Given the description of an element on the screen output the (x, y) to click on. 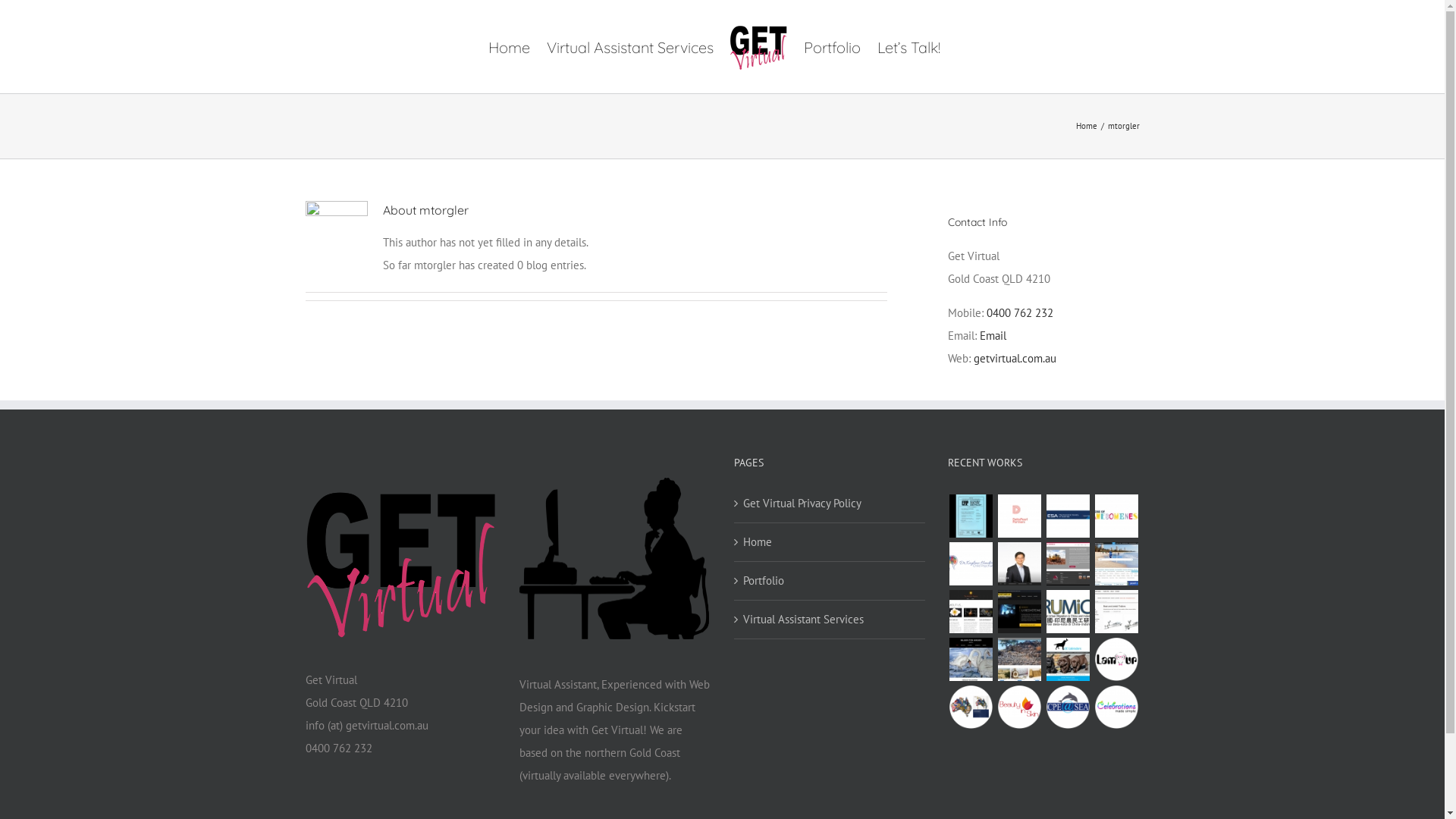
Economics for Decision Makers Element type: hover (970, 707)
getvirtual.com.au Element type: text (1014, 358)
Virtual Assistant Services Element type: text (830, 619)
The Initiative Agency Element type: hover (970, 611)
Get Virtual Privacy Policy Element type: text (830, 503)
Home Element type: text (830, 541)
RUMICI Element type: hover (1067, 611)
A Dose of Awesomeness Element type: hover (1116, 515)
Virtual Assistant Services Element type: text (629, 46)
GC Labradors Element type: hover (1067, 659)
Dr Kaylene Henderson Element type: hover (970, 563)
Email Element type: text (992, 335)
Derech HaMashiach Element type: hover (1018, 659)
Alumtek Minerals Element type: hover (1067, 563)
Home Element type: text (509, 46)
CPE @ SEA Element type: hover (1067, 707)
GC Ads Element type: hover (1116, 563)
Rechsteiner Stahlbau AG Element type: hover (1018, 611)
Bilder fuer Kinder Element type: hover (970, 659)
Dr KL Lee Element type: hover (1018, 563)
Portfolio Element type: text (830, 580)
DeltaPearl Partners Element type: hover (1018, 515)
EAP (Economic Analysis and Policy) Element type: hover (970, 515)
0400 762 232 Element type: text (1018, 312)
Home Element type: text (1085, 125)
Economic Society of Australia (QLD) Element type: hover (1067, 515)
Lamour Element type: hover (1116, 659)
Gold Coast Trailer Hire & Sales Element type: hover (1116, 611)
Beauty in Skin Element type: hover (1018, 707)
Celebration Made Simple Element type: hover (1116, 707)
Portfolio Element type: text (831, 46)
